Given the description of an element on the screen output the (x, y) to click on. 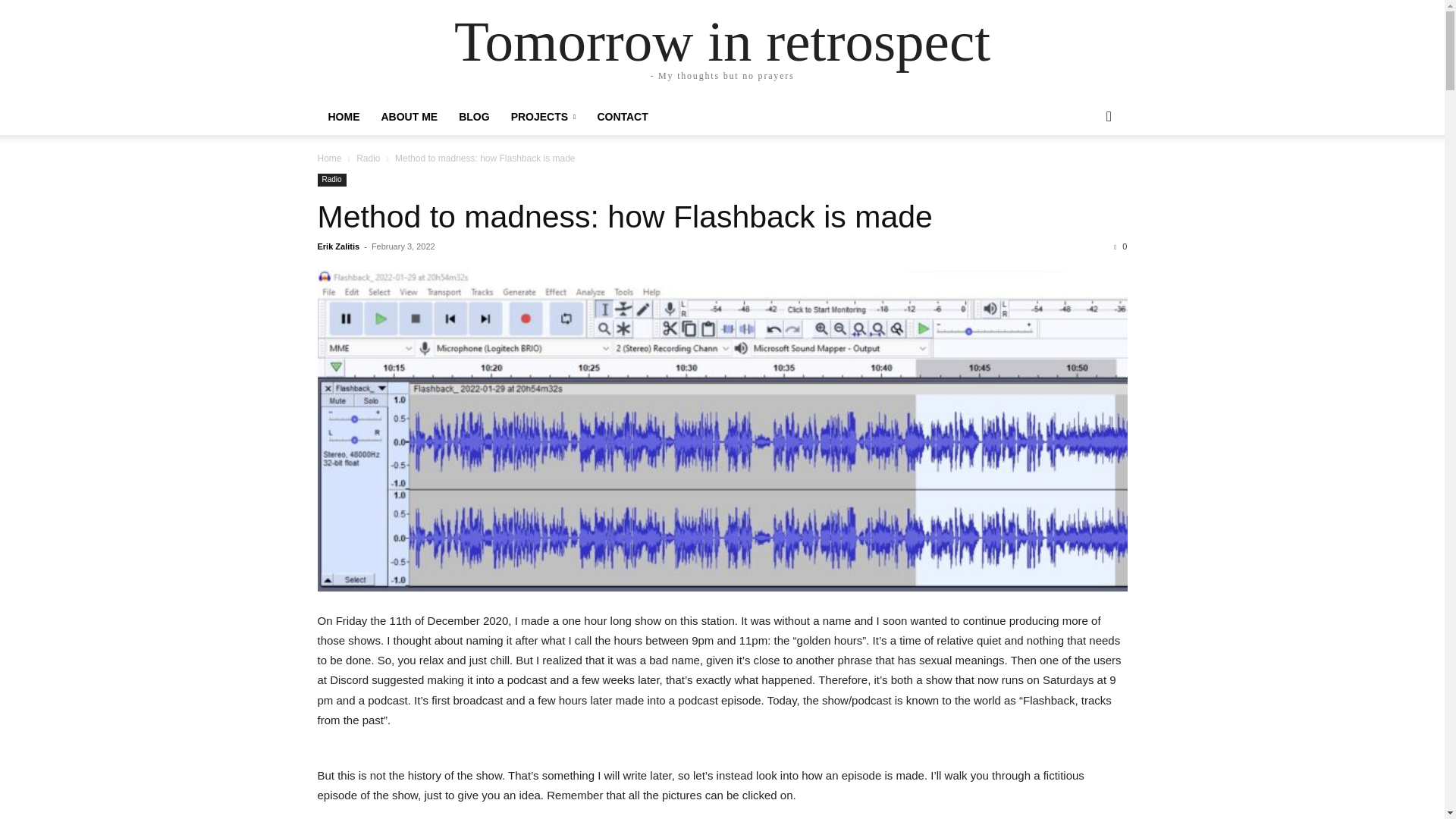
View all posts in Radio (368, 158)
Tomorrow in retrospect (722, 41)
ABOUT ME (408, 116)
Search (1085, 177)
CONTACT (622, 116)
Method to madness: how Flashback is made (624, 216)
0 (1119, 245)
Radio (331, 179)
Method to madness: how Flashback is made (624, 216)
HOME (343, 116)
Home (328, 158)
PROJECTS (543, 116)
Radio (368, 158)
BLOG (473, 116)
